Given the description of an element on the screen output the (x, y) to click on. 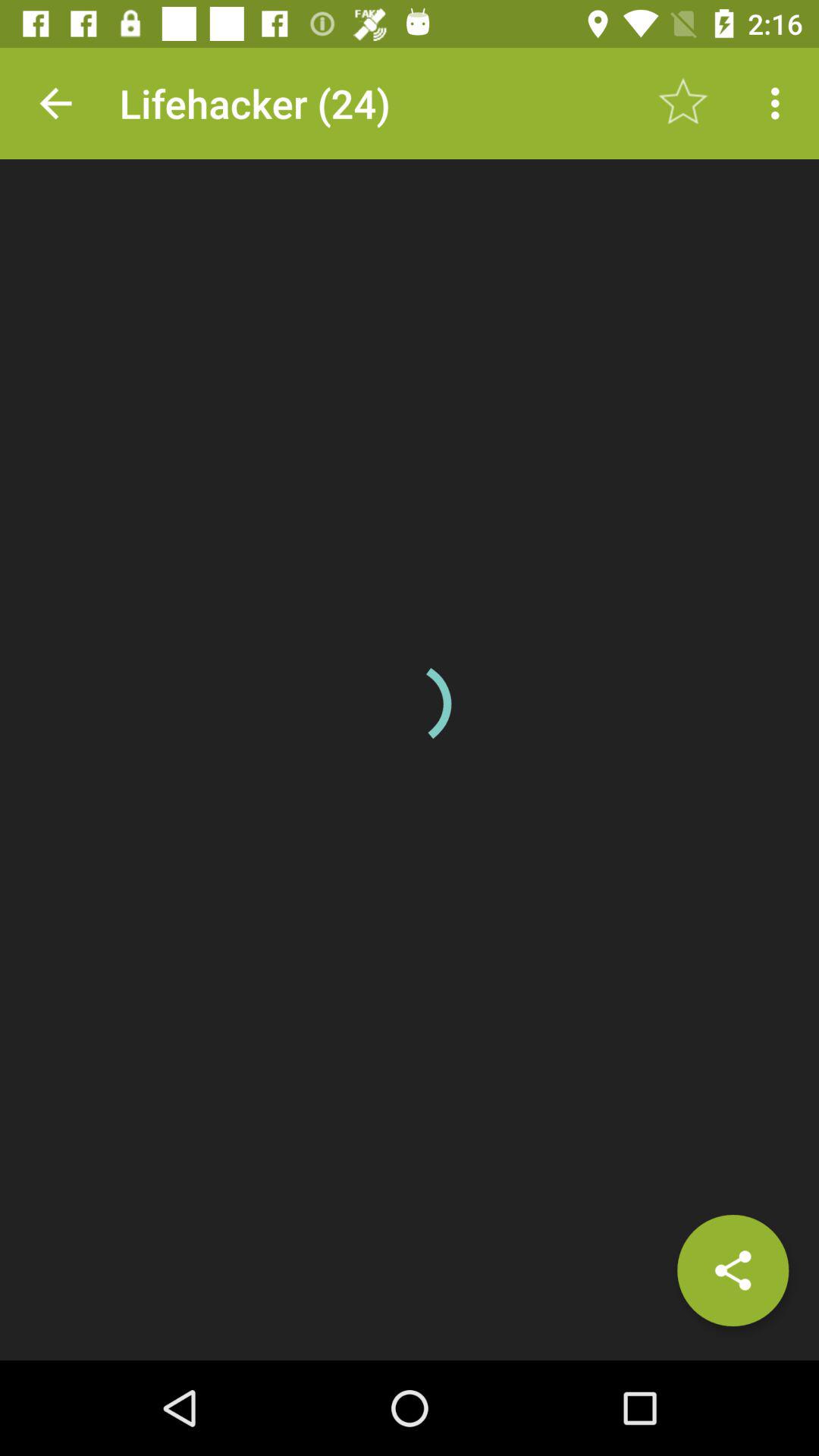
launch the app to the left of lifehacker (24) icon (55, 103)
